Given the description of an element on the screen output the (x, y) to click on. 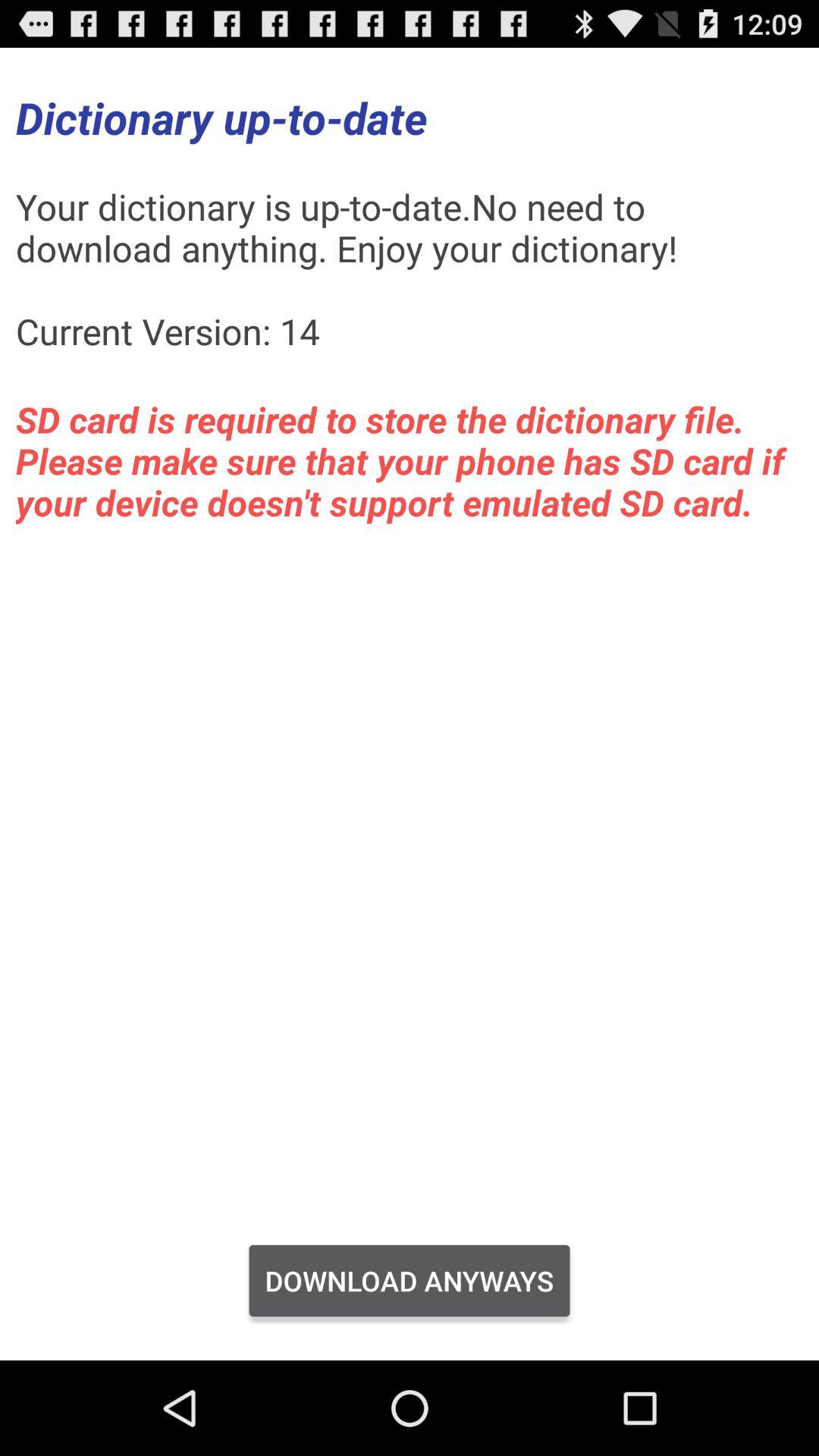
open item at the bottom (409, 1280)
